Given the description of an element on the screen output the (x, y) to click on. 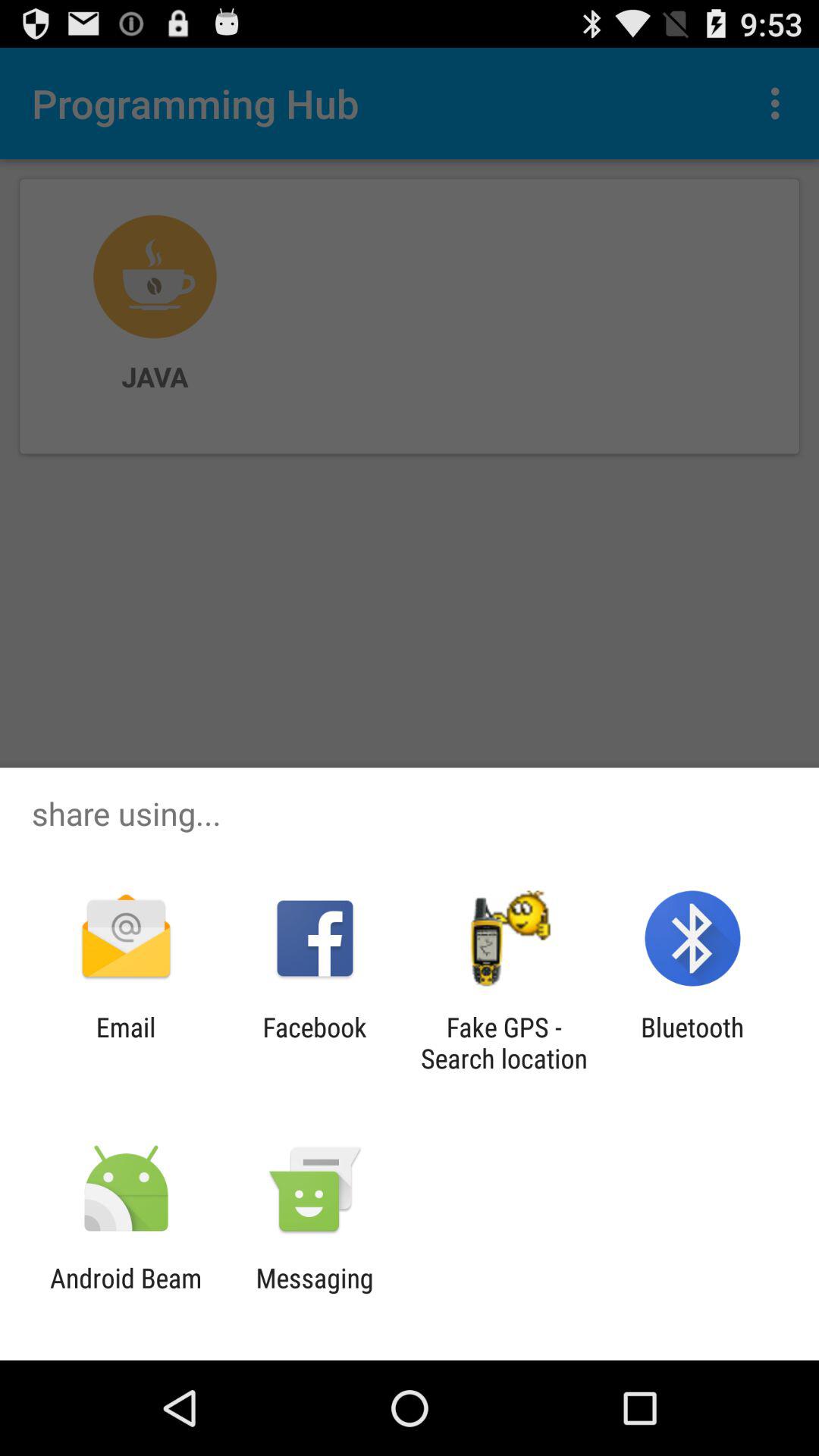
select app next to the android beam app (314, 1293)
